Given the description of an element on the screen output the (x, y) to click on. 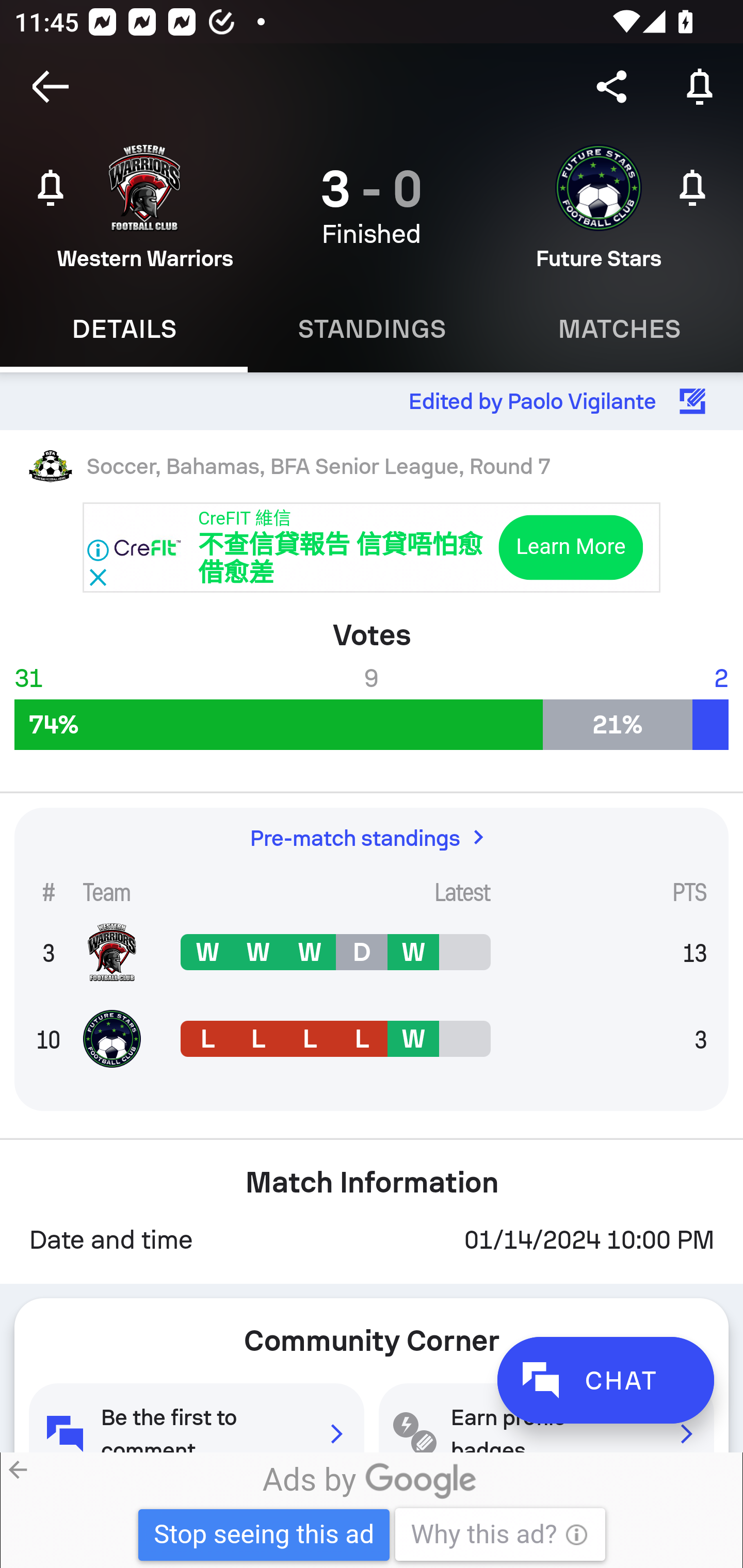
Navigate up (50, 86)
Standings STANDINGS (371, 329)
Matches MATCHES (619, 329)
Edited by Paolo Vigilante (371, 401)
Soccer, Bahamas, BFA Senior League, Round 7 (371, 465)
CHAT (605, 1380)
Be the first to comment (196, 1416)
